Given the description of an element on the screen output the (x, y) to click on. 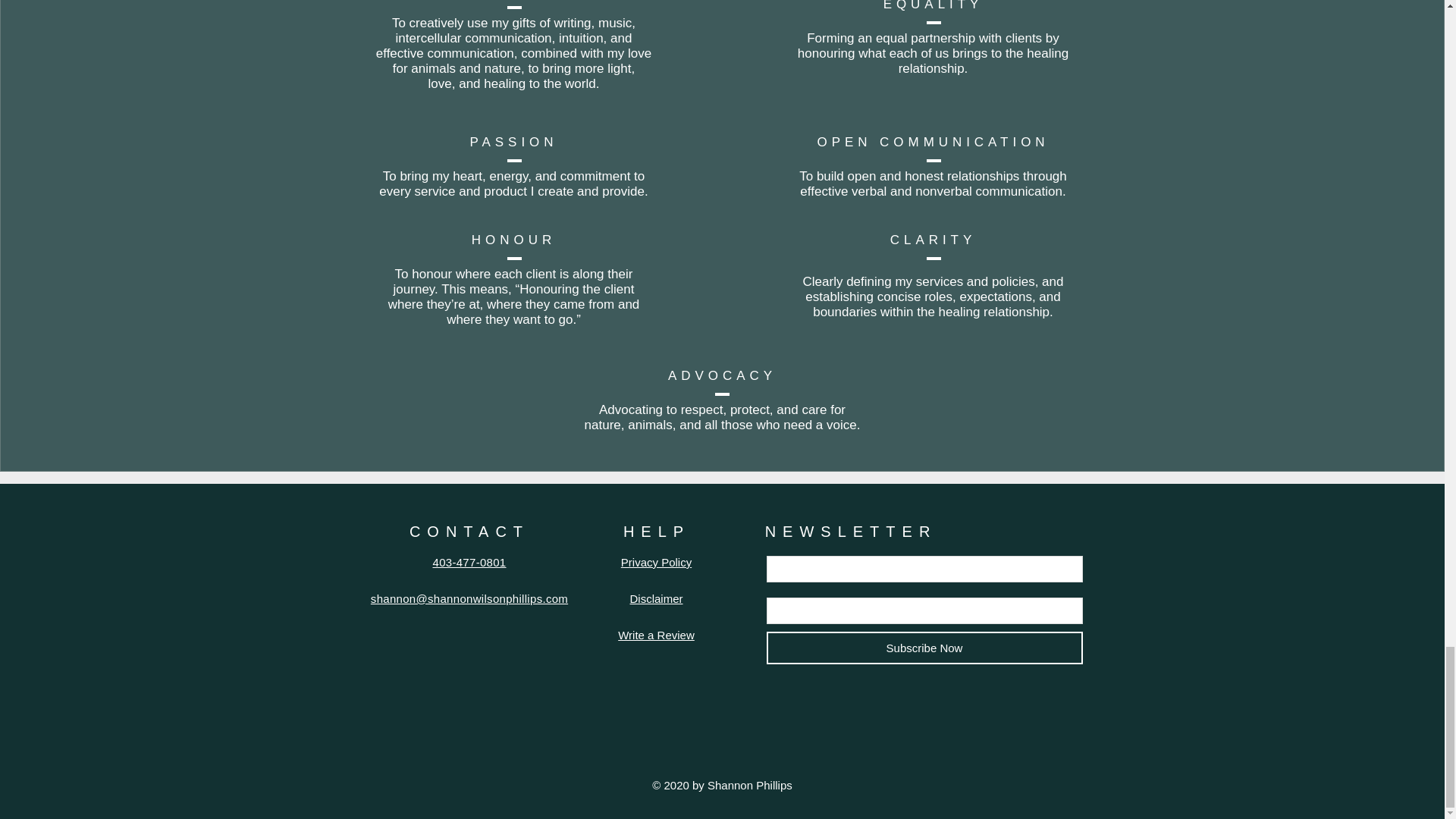
Privacy Policy (656, 562)
Write a Review (655, 634)
403-477-0801 (468, 562)
Subscribe Now (923, 647)
Disclaimer (655, 598)
